Given the description of an element on the screen output the (x, y) to click on. 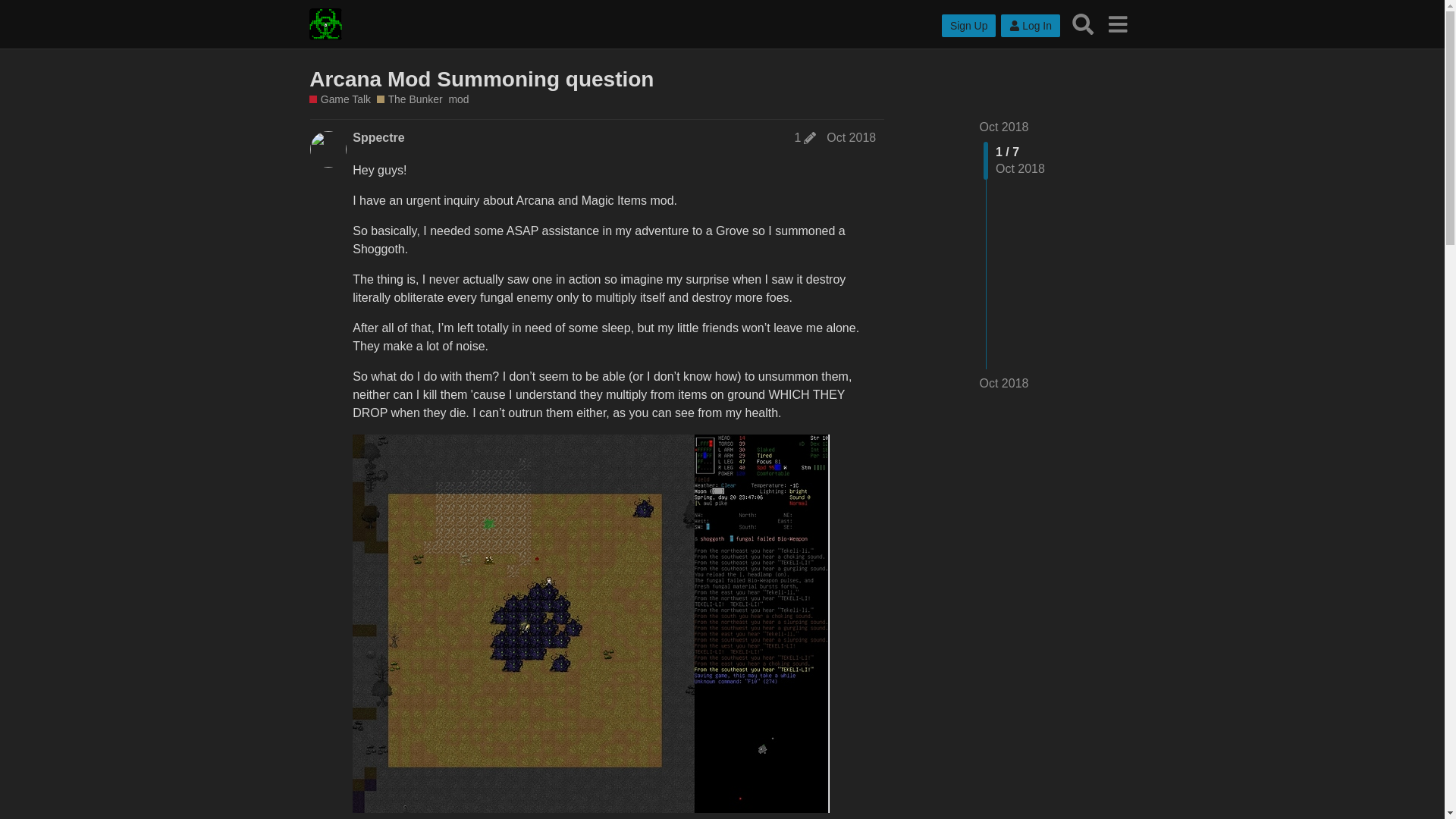
Game Talk (339, 99)
Oct 2018 (1004, 383)
Sign Up (968, 25)
Post date (851, 137)
Oct 2018 (1004, 126)
Log In (1030, 25)
menu (1117, 23)
Sppectre (378, 137)
mod (458, 99)
1 (805, 137)
Oct 2018 (851, 137)
Arcana Mod Summoning question (480, 78)
